Given the description of an element on the screen output the (x, y) to click on. 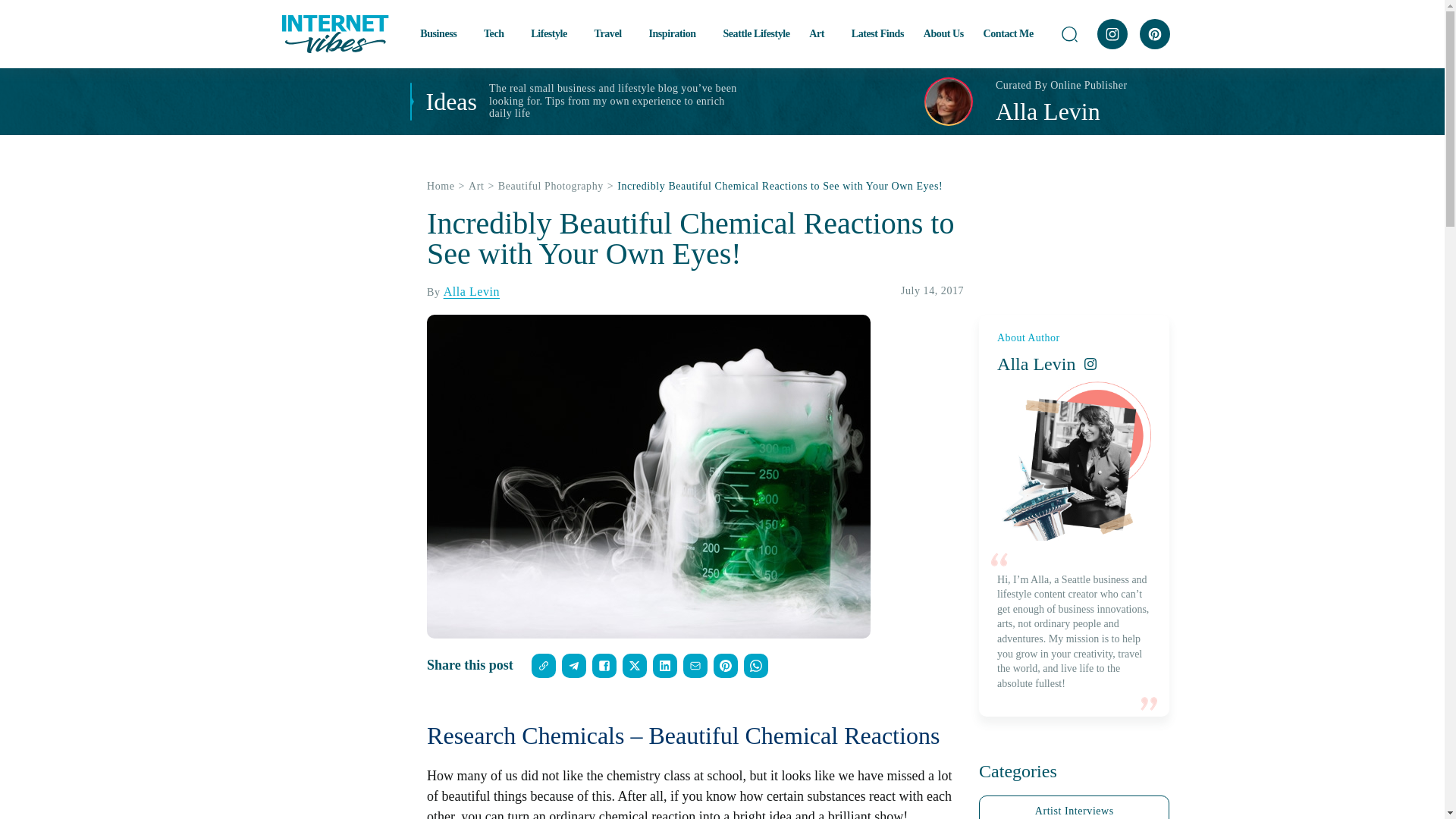
Inspiration (675, 33)
Lifestyle (553, 33)
Travel (611, 33)
Tech (497, 33)
Business (442, 33)
